Given the description of an element on the screen output the (x, y) to click on. 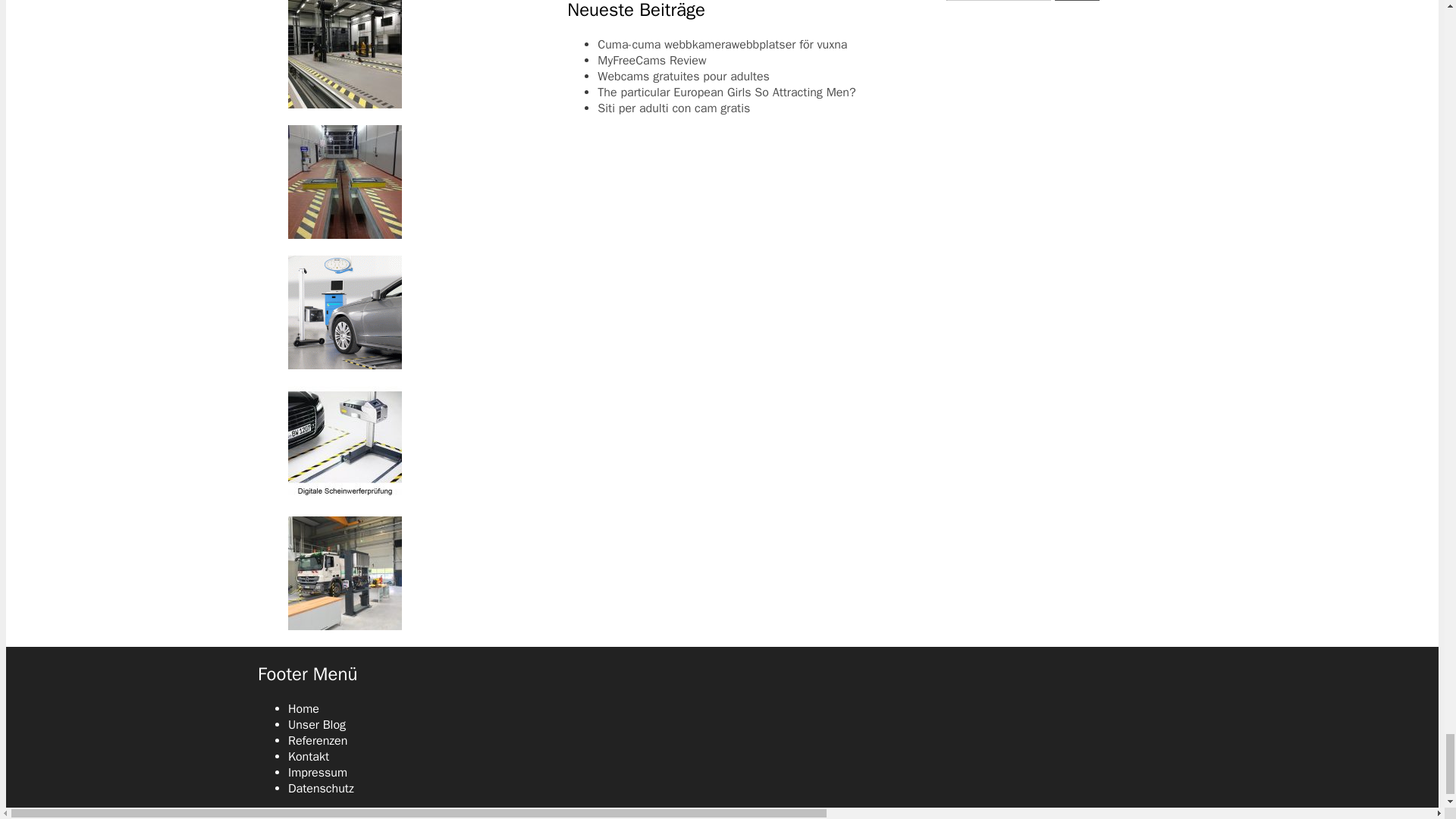
Suchen (1076, 0)
Suchen (1076, 0)
